Given the description of an element on the screen output the (x, y) to click on. 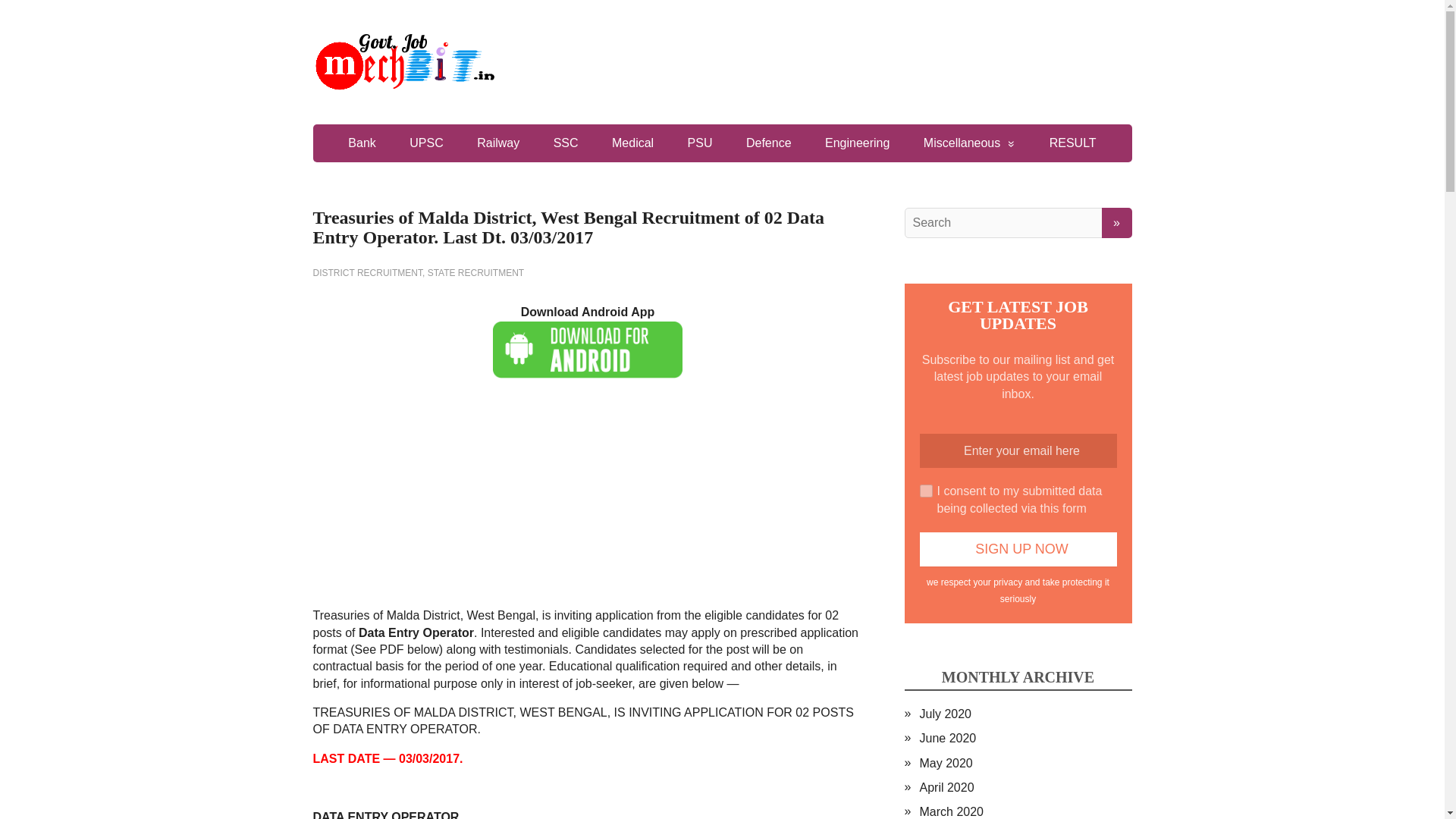
Bank (361, 143)
RESULT (1072, 143)
UPSC (426, 143)
Defence (768, 143)
Govtjob (722, 61)
June 2020 (946, 738)
DISTRICT RECRUITMENT (367, 272)
Engineering (856, 143)
STATE RECRUITMENT (476, 272)
March 2020 (951, 811)
